Given the description of an element on the screen output the (x, y) to click on. 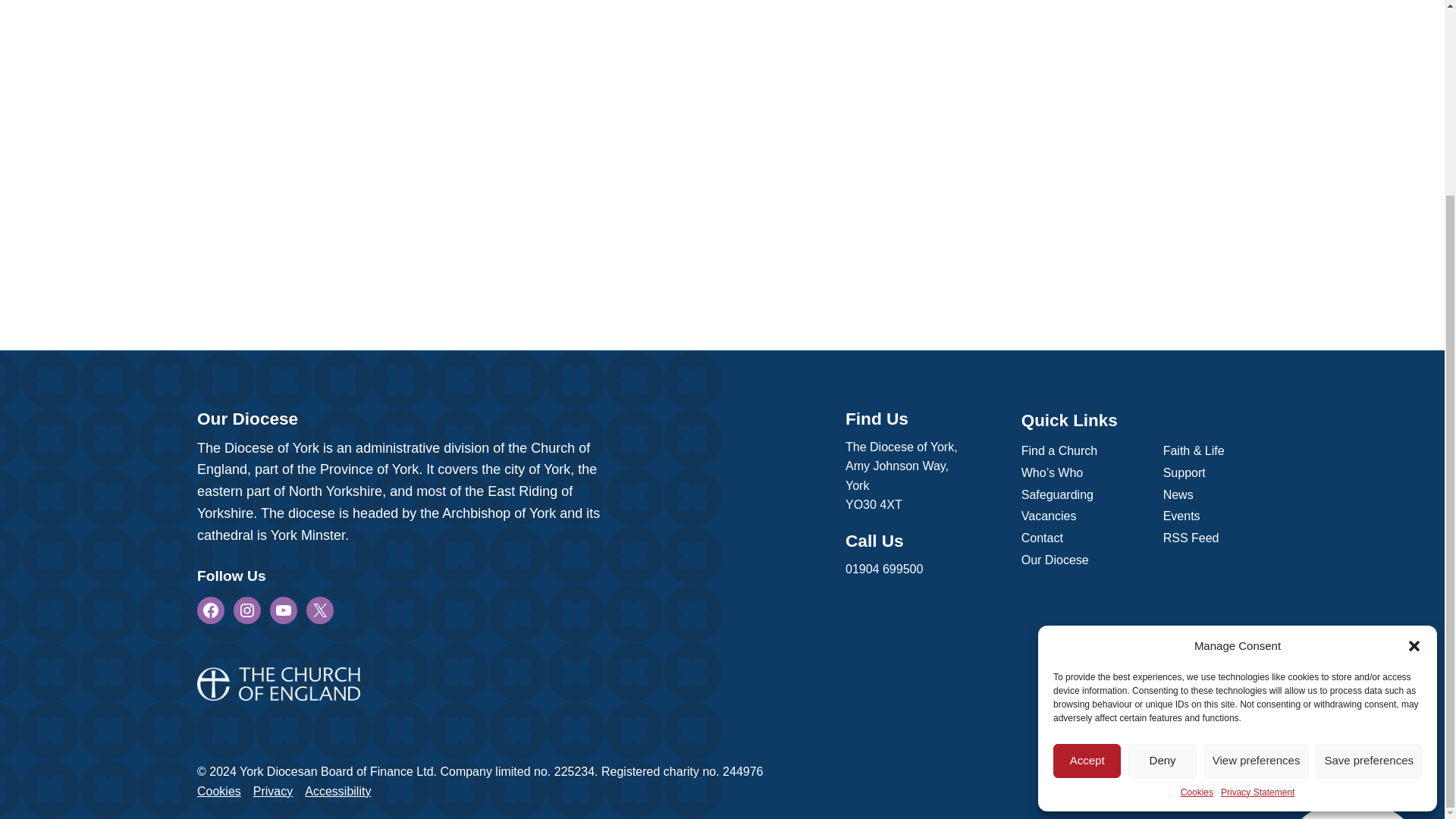
Deny (1161, 514)
Save preferences (1369, 514)
View preferences (1256, 514)
Privacy Statement (1257, 545)
Accept (1086, 514)
Cookies (1196, 545)
